Given the description of an element on the screen output the (x, y) to click on. 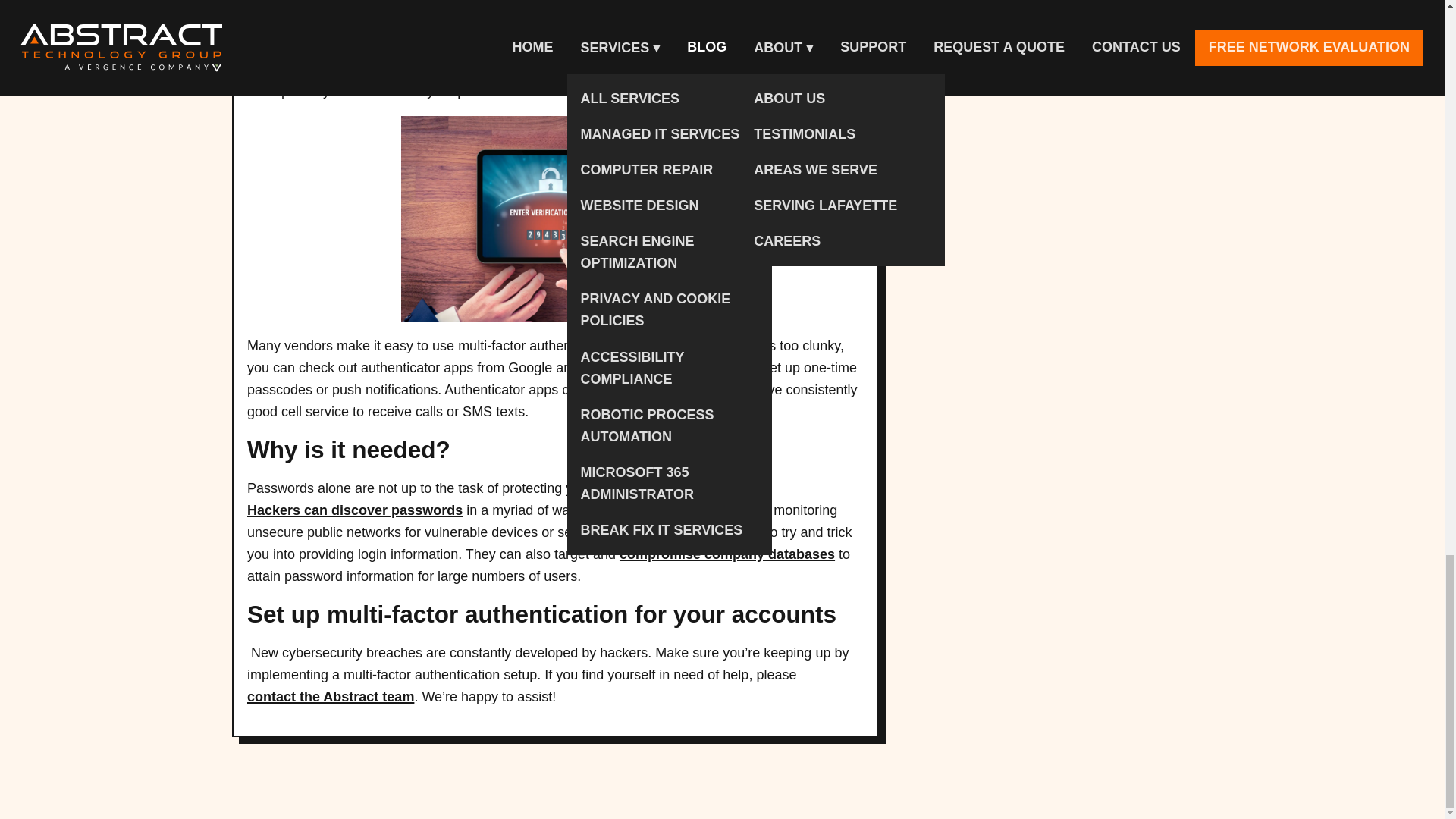
compromise company databases (727, 554)
Hackers can discover passwords (355, 510)
contact the Abstract team (330, 697)
